Given the description of an element on the screen output the (x, y) to click on. 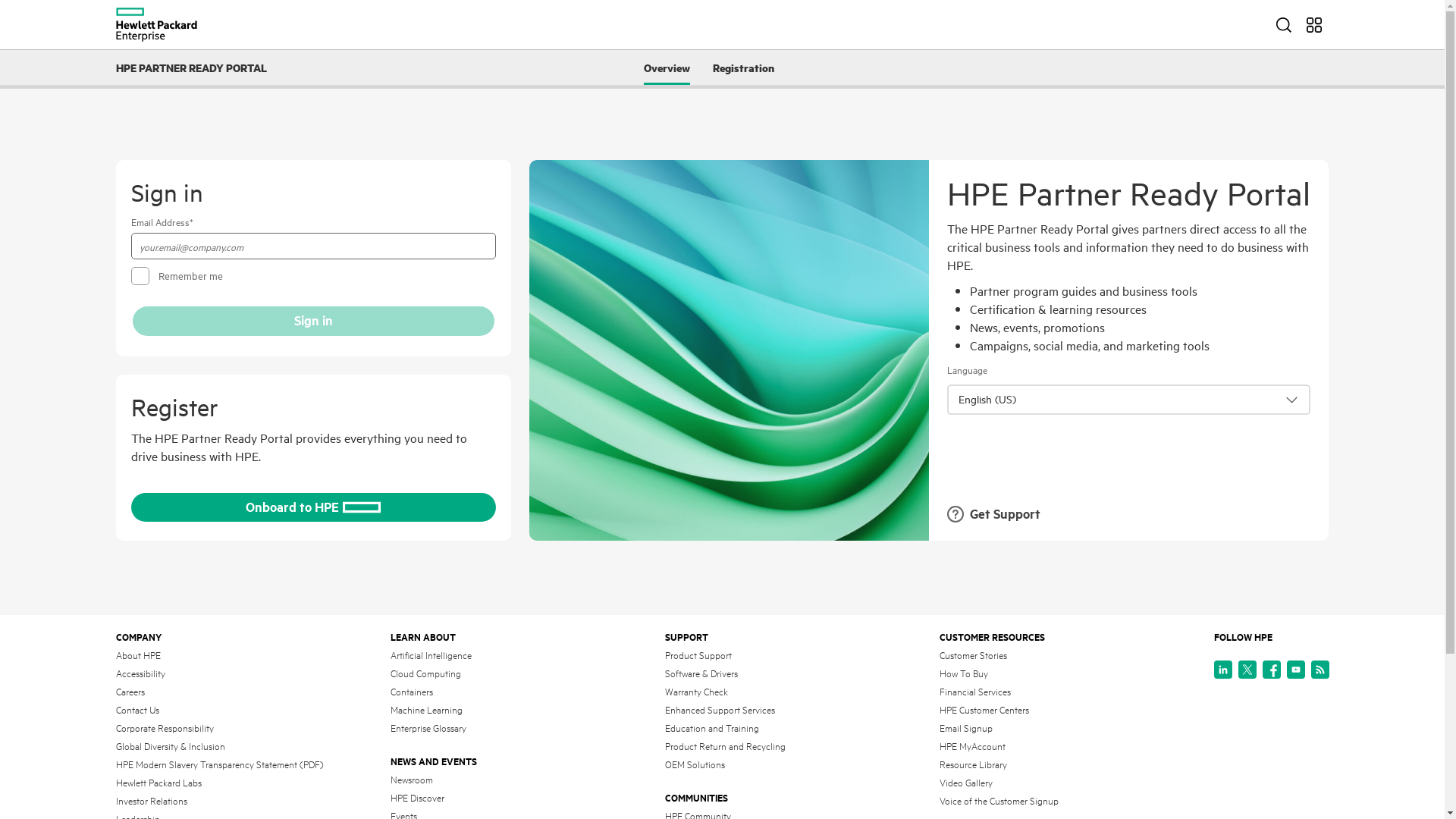
Education and Training Element type: text (711, 728)
Enhanced Support Services Element type: text (719, 710)
Financial Services Element type: text (974, 691)
About HPE Element type: text (137, 655)
HPE MyAccount Element type: text (971, 746)
Facebook - new window Element type: hover (1270, 669)
Customer Stories Element type: text (972, 655)
Services Element type: hover (1313, 24)
LinkedIn - new window Element type: hover (1222, 669)
Product Return and Recycling Element type: text (724, 746)
Warranty Check Element type: text (695, 691)
Newsroom Element type: text (410, 779)
Product Support Element type: text (697, 655)
Sign in Element type: text (312, 320)
Artificial Intelligence Element type: text (429, 655)
Get Support Element type: text (993, 522)
Hewlett Packard Labs Element type: text (157, 782)
Video Gallery Element type: text (964, 782)
Onboard to HPE Element type: text (312, 507)
Registration Element type: text (743, 67)
Hewlett Packard Enterprise Element type: hover (155, 24)
Overview Element type: text (666, 67)
How To Buy Element type: text (962, 673)
HPE Discover Element type: text (416, 798)
HPE RSS Feed - new window Element type: hover (1319, 669)
Accessibility Element type: text (139, 673)
Investor Relations Element type: text (150, 801)
Machine Learning Element type: text (425, 710)
YouTube - new window Element type: hover (1295, 669)
Contact Us Element type: text (136, 710)
Containers Element type: text (410, 691)
HPE Customer Centers Element type: text (983, 710)
Enterprise Glossary Element type: text (427, 728)
X - new window Element type: hover (1246, 669)
HPE Modern Slavery Transparency Statement (PDF) Element type: text (219, 764)
Software & Drivers Element type: text (700, 673)
Email Signup Element type: text (964, 728)
Global Diversity & Inclusion Element type: text (169, 746)
Voice of the Customer Signup Element type: text (997, 801)
OEM Solutions Element type: text (694, 764)
Careers Element type: text (129, 691)
Search Element type: hover (1282, 24)
Resource Library Element type: text (972, 764)
Cloud Computing Element type: text (424, 673)
Corporate Responsibility Element type: text (164, 728)
